Given the description of an element on the screen output the (x, y) to click on. 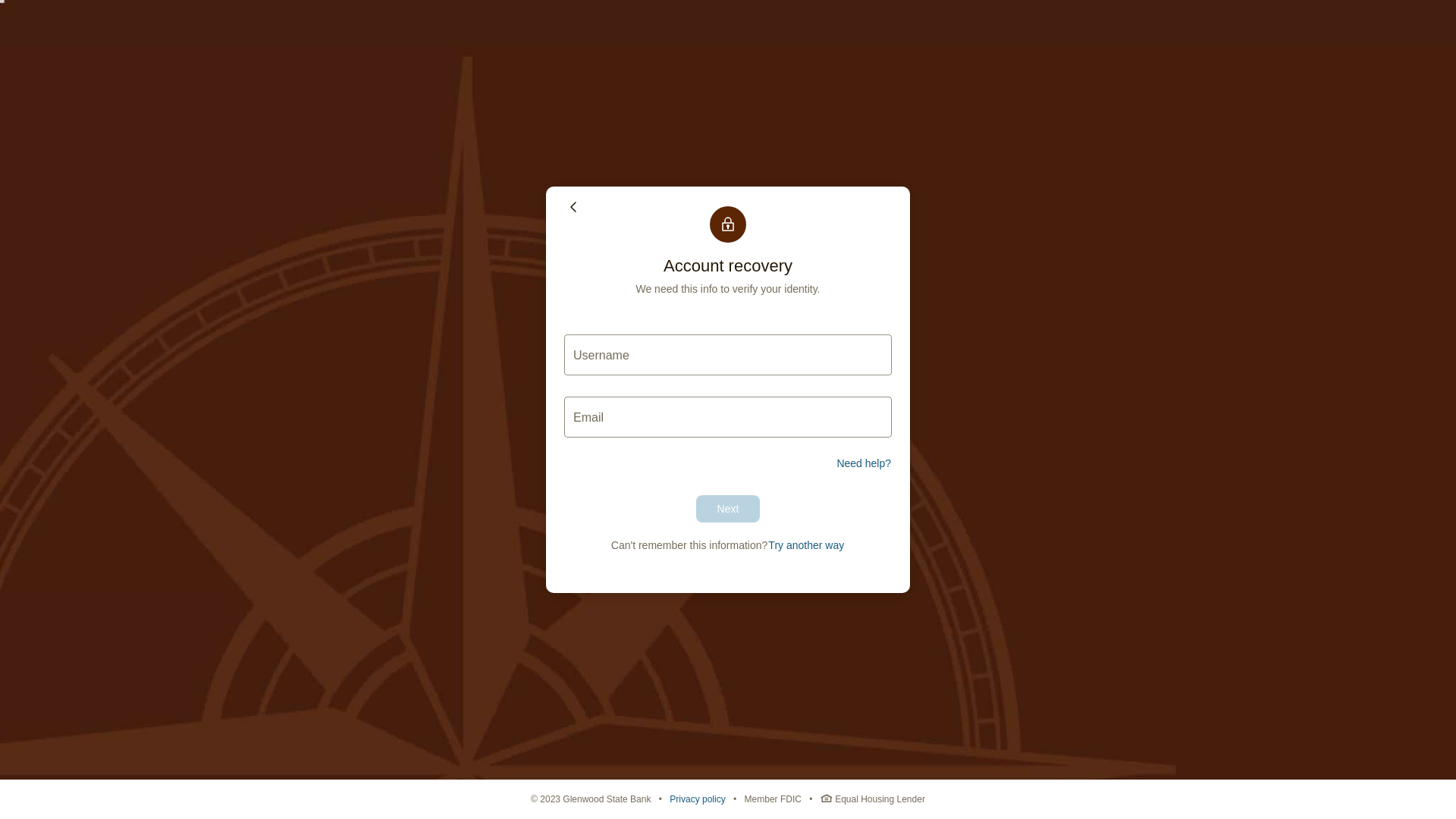
Username Element type: hover (727, 354)
Email Element type: hover (727, 416)
